Given the description of an element on the screen output the (x, y) to click on. 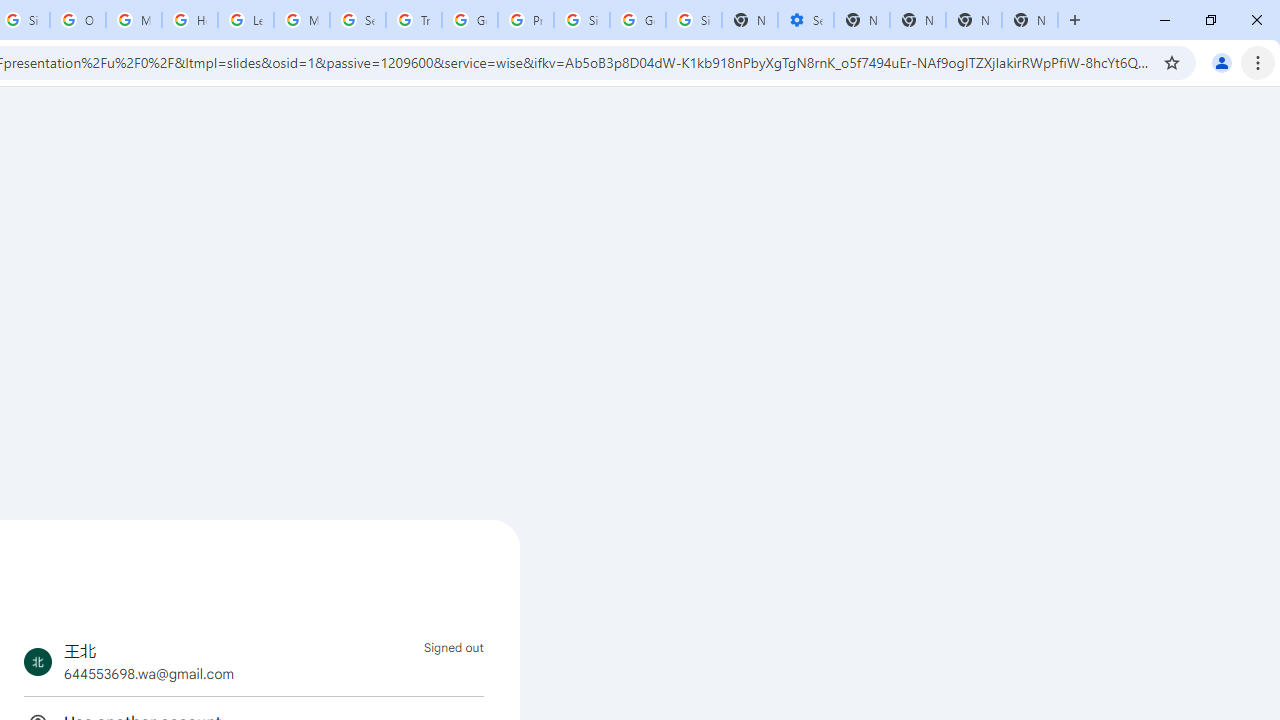
Settings - Performance (806, 20)
Trusted Information and Content - Google Safety Center (413, 20)
New Tab (1030, 20)
Sign in - Google Accounts (693, 20)
